Given the description of an element on the screen output the (x, y) to click on. 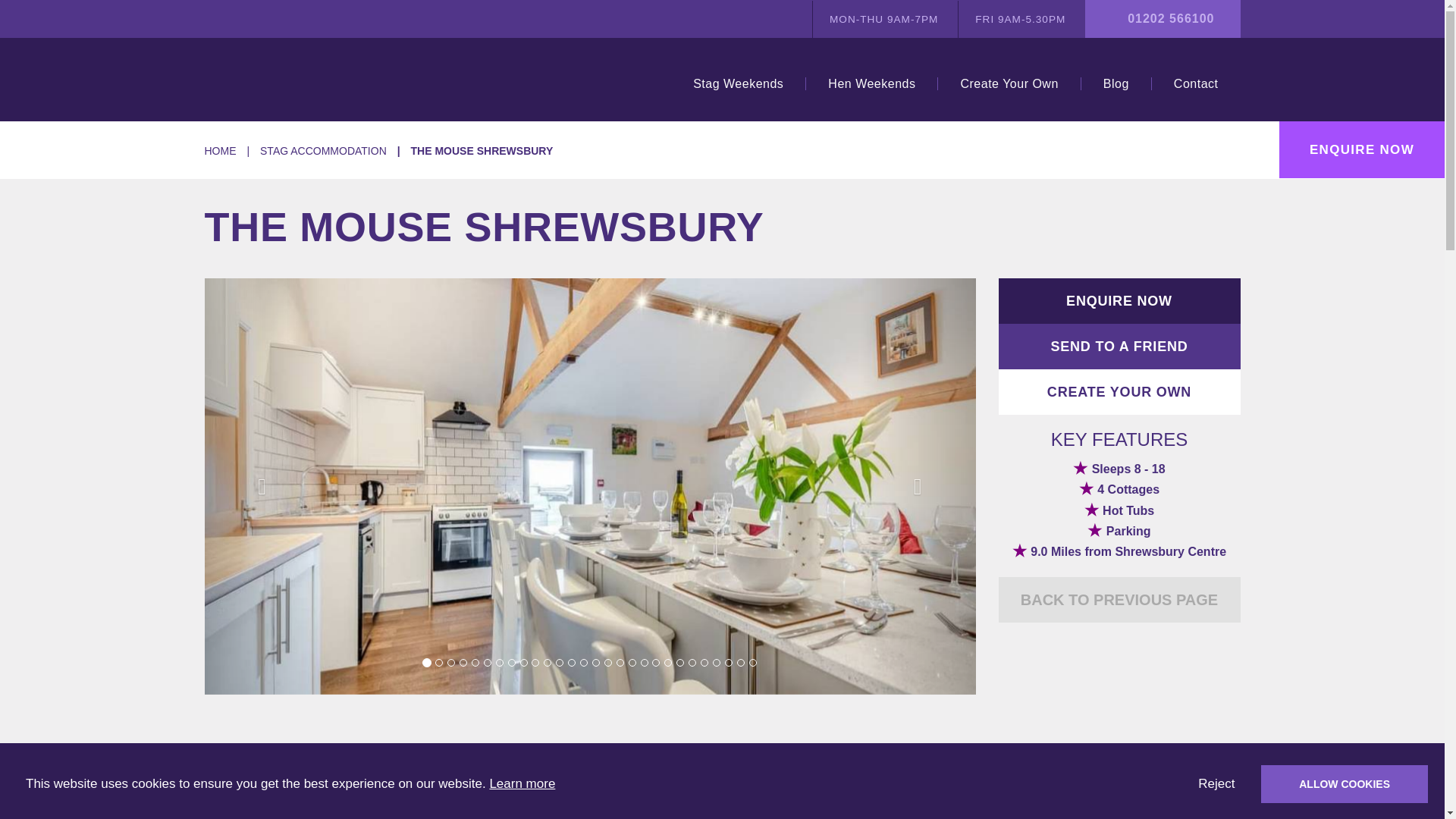
01202 566100 (1170, 18)
Hen Weekends (871, 83)
The Stag and Hen Experience (299, 79)
Stag Weekends (738, 83)
